Given the description of an element on the screen output the (x, y) to click on. 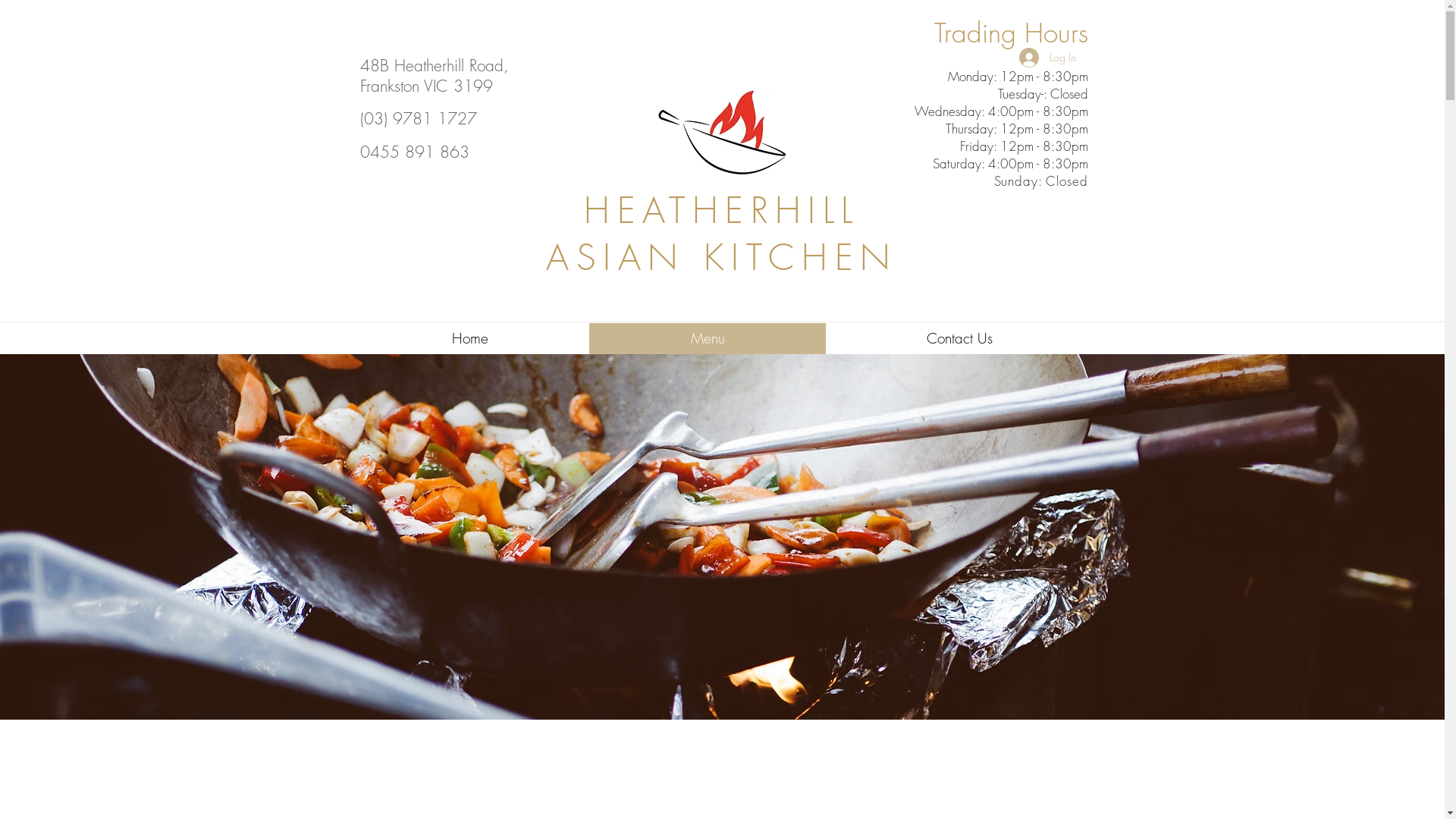
Menu Element type: text (706, 338)
Contact Us Element type: text (958, 338)
ASIAN KITCHEN Element type: text (721, 256)
HEATHERHILL Element type: text (721, 209)
Home Element type: text (469, 338)
Log In Element type: text (1047, 57)
